Given the description of an element on the screen output the (x, y) to click on. 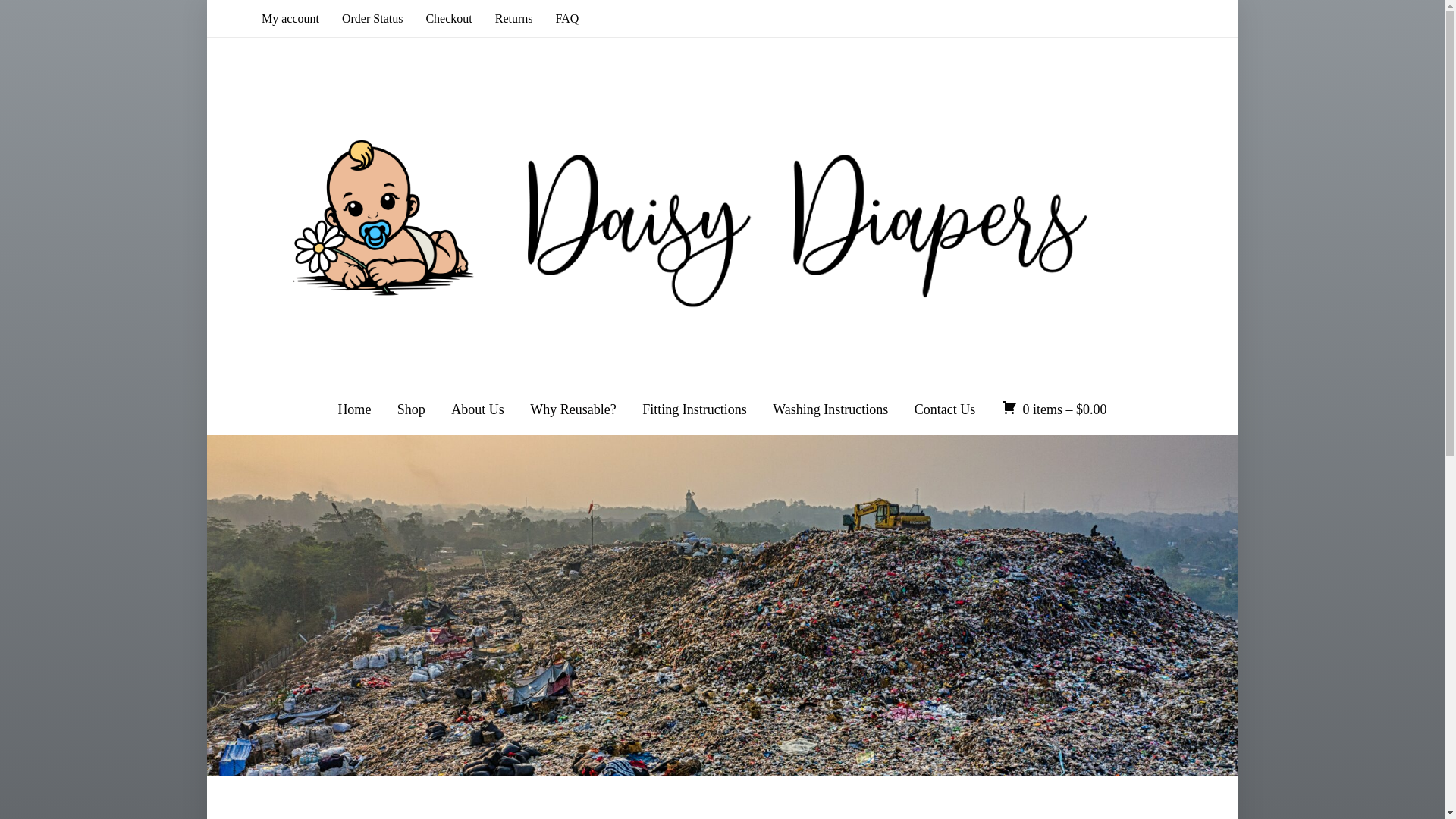
FAQ (567, 18)
My account (290, 18)
Washing Instructions (830, 409)
Why Reusable? (572, 409)
Order Status (372, 18)
About Us (477, 409)
Returns (513, 18)
View your shopping cart (1053, 409)
Fitting Instructions (694, 409)
Checkout (448, 18)
Shop (411, 409)
Contact Us (944, 409)
Home (354, 409)
